Given the description of an element on the screen output the (x, y) to click on. 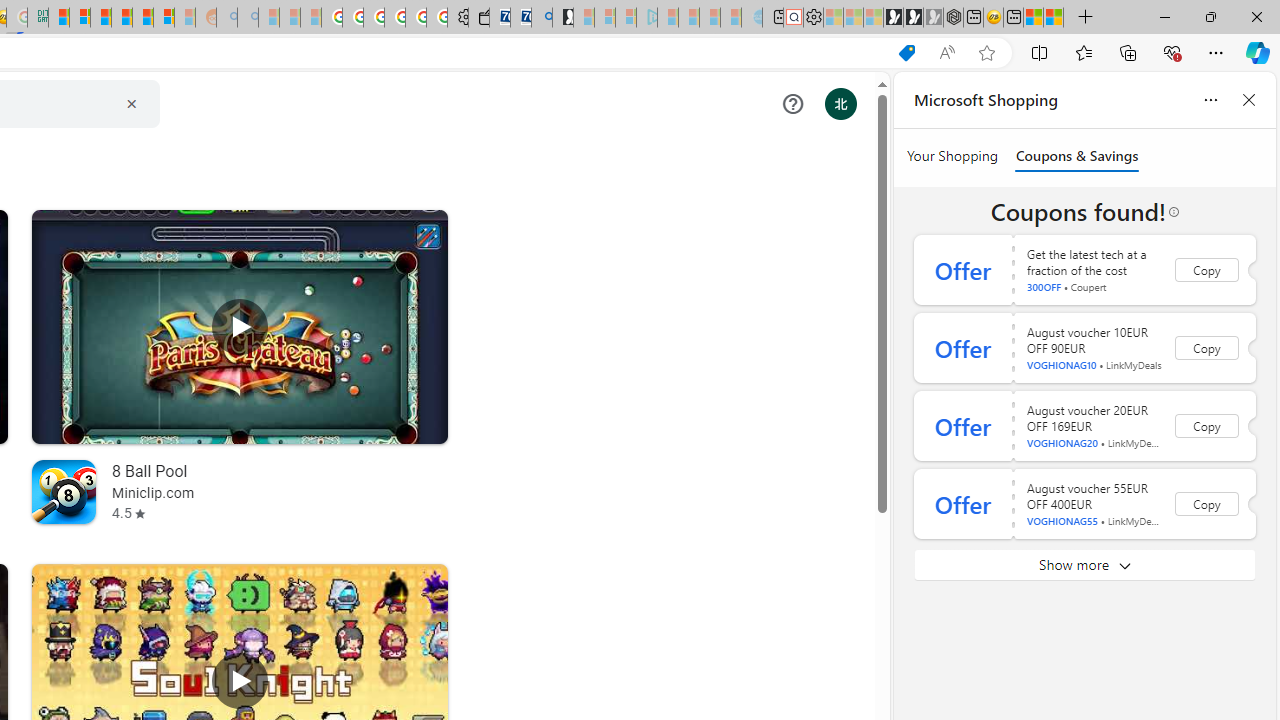
Microsoft Start - Sleeping (710, 17)
Expert Portfolios (121, 17)
Nordace - Nordace Siena Is Not An Ordinary Backpack (952, 17)
Wildlife - MSN (1033, 17)
Restore (1210, 16)
MSNBC - MSN (58, 17)
Add this page to favorites (Ctrl+D) (986, 53)
Microsoft Start Gaming (563, 17)
